Given the description of an element on the screen output the (x, y) to click on. 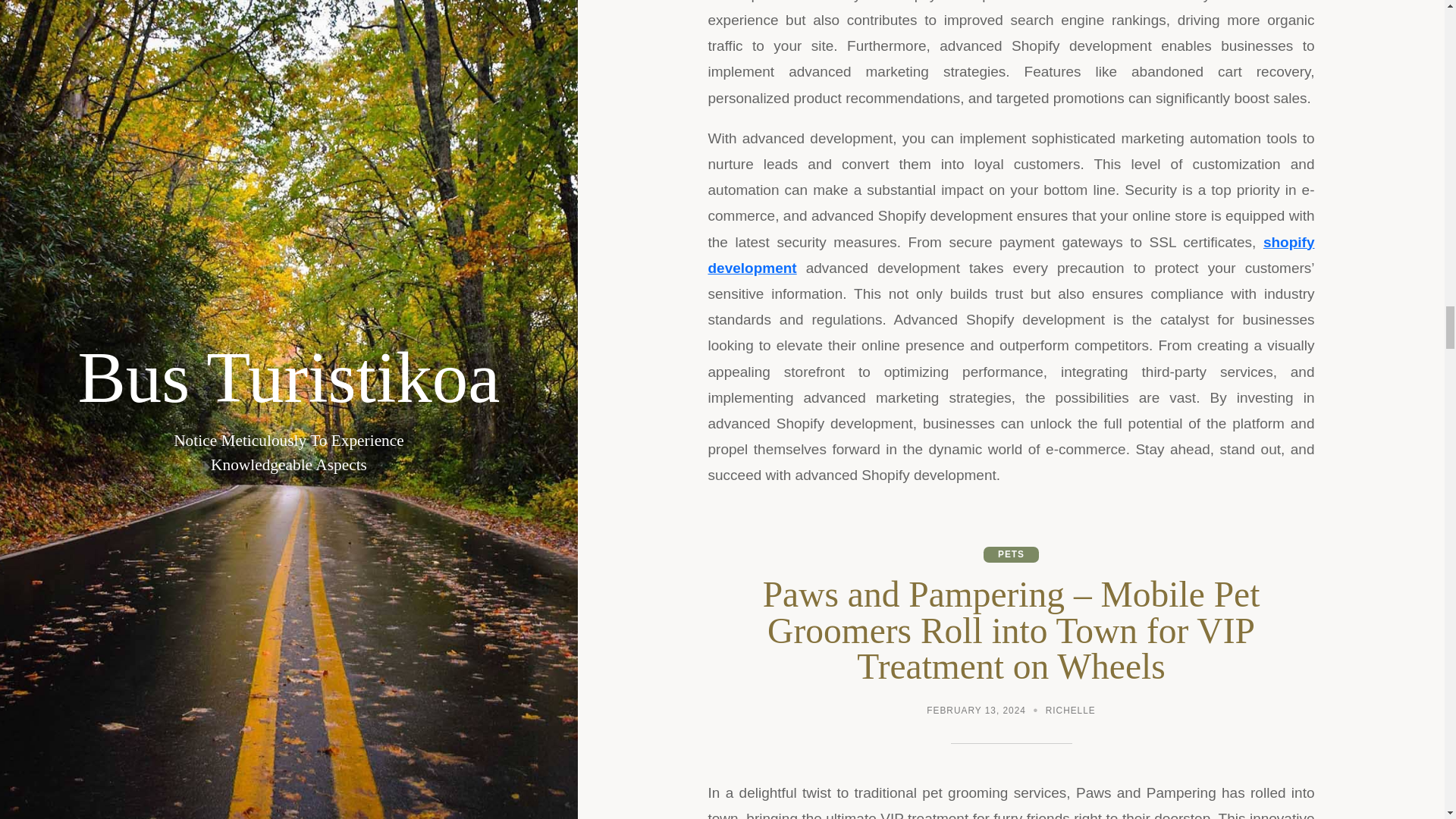
FEBRUARY 13, 2024 (976, 712)
shopify development (1010, 255)
RICHELLE (1070, 712)
PETS (1011, 554)
